Given the description of an element on the screen output the (x, y) to click on. 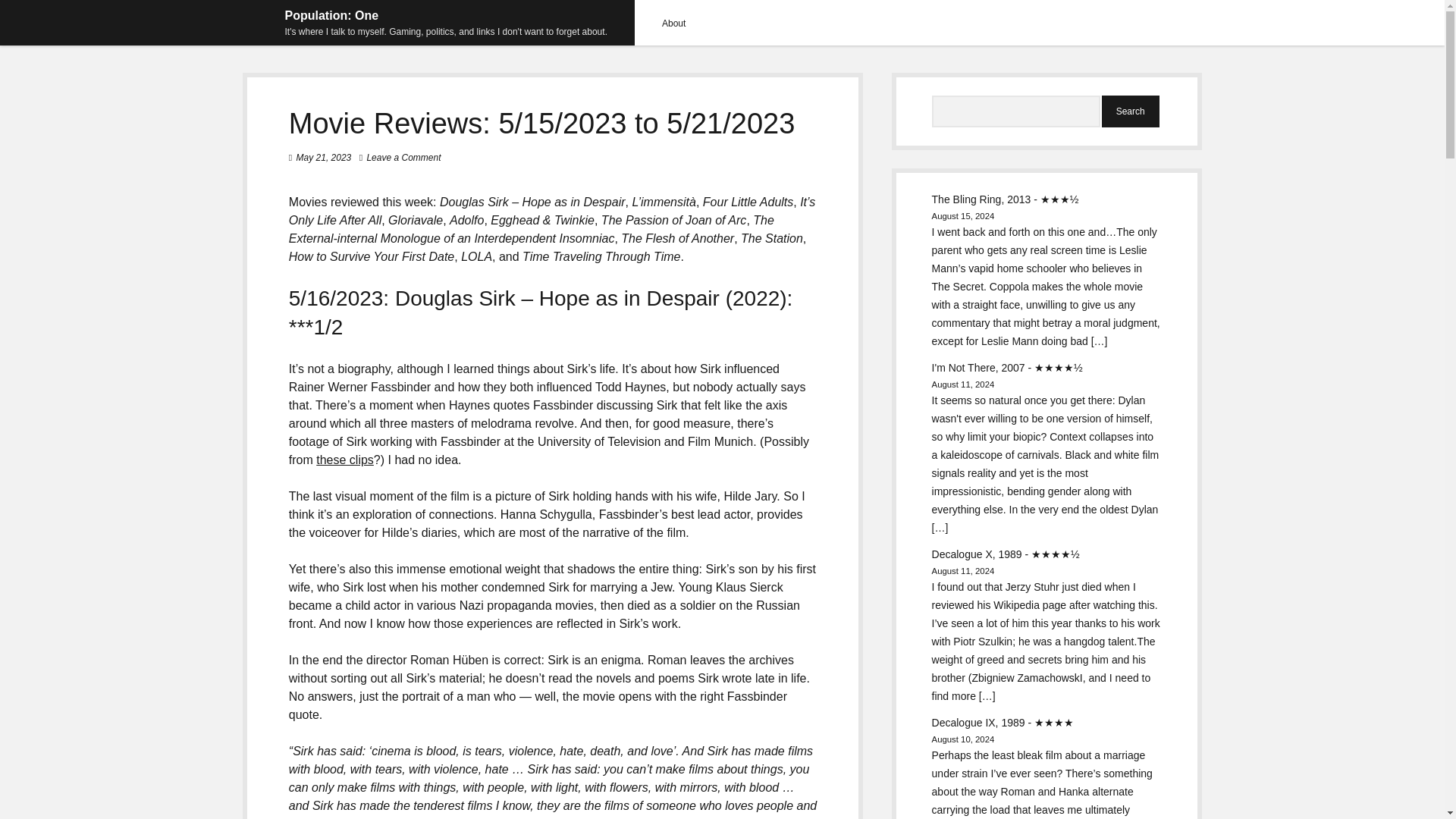
Search (1130, 111)
Population: One (331, 15)
May 21, 2023 (324, 157)
Search for: (1015, 111)
Search (1130, 111)
Leave a Comment (403, 157)
About (673, 23)
these clips (344, 459)
Search (1130, 111)
